Given the description of an element on the screen output the (x, y) to click on. 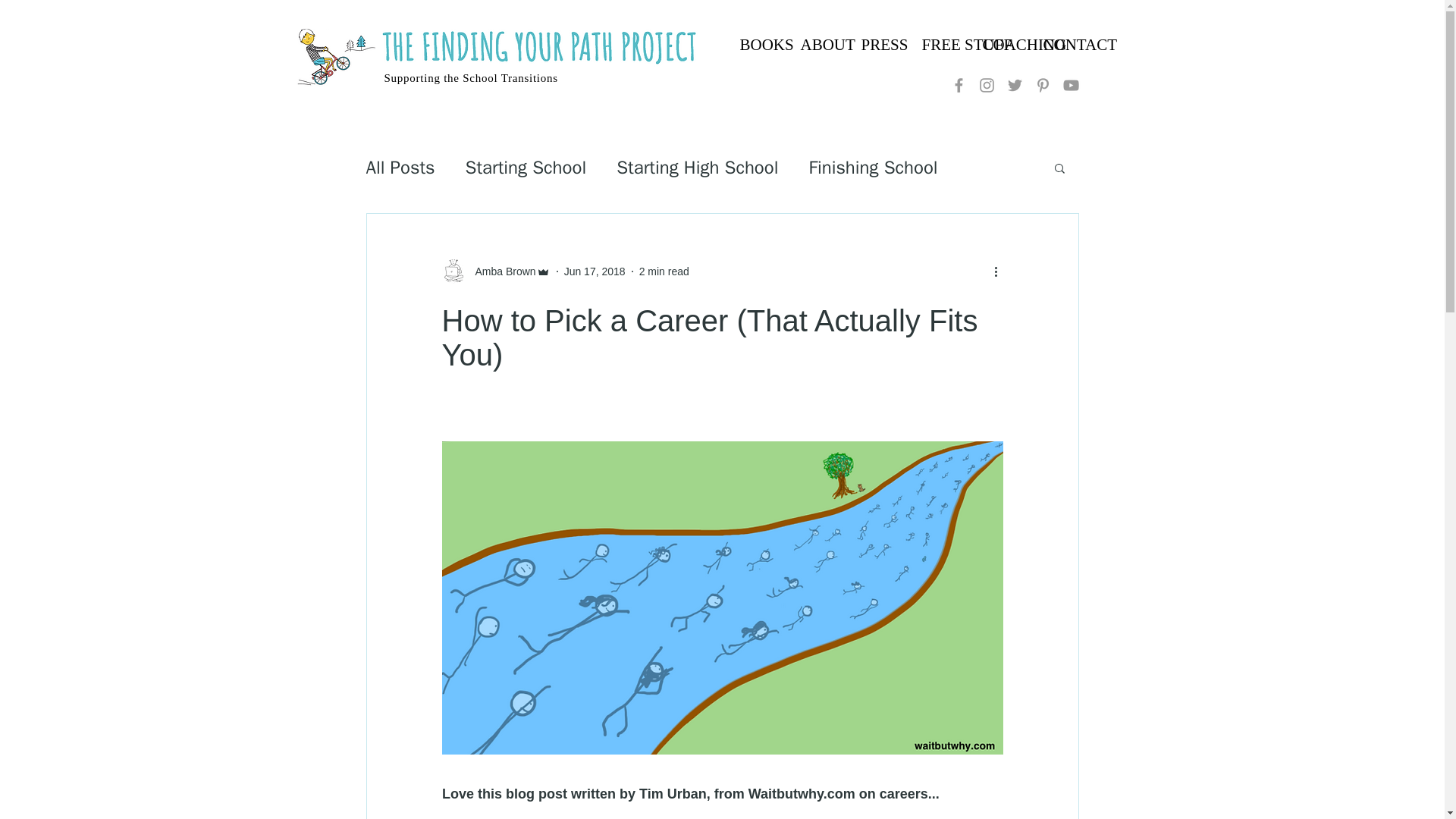
All Posts (399, 167)
Finishing School (872, 167)
ABOUT (821, 44)
Jun 17, 2018 (595, 271)
Amba Brown (500, 271)
BOOKS (761, 44)
2 min read (663, 271)
CONTACT (1063, 44)
Starting High School (696, 167)
COACHING (1003, 44)
Supporting the School Transitions (470, 77)
Starting School (525, 167)
